Given the description of an element on the screen output the (x, y) to click on. 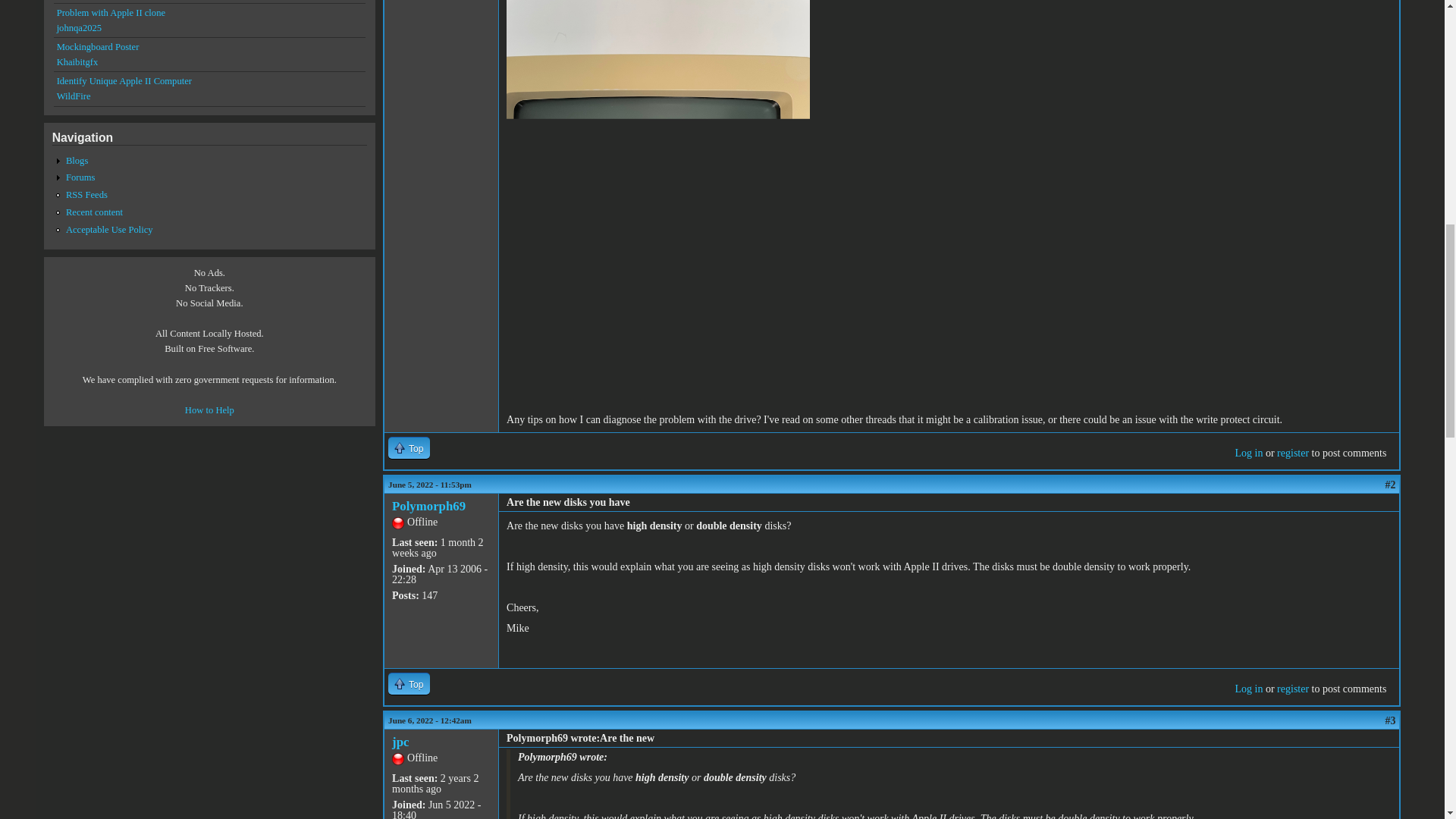
Log in (1248, 688)
jpc (400, 741)
View user profile. (428, 505)
register (1292, 452)
register (1292, 688)
Top (408, 683)
Top (408, 447)
View user profile. (400, 741)
Log in (1248, 452)
VSDrive-REQUIRES-64K.jpeg (604, 20)
